Given the description of an element on the screen output the (x, y) to click on. 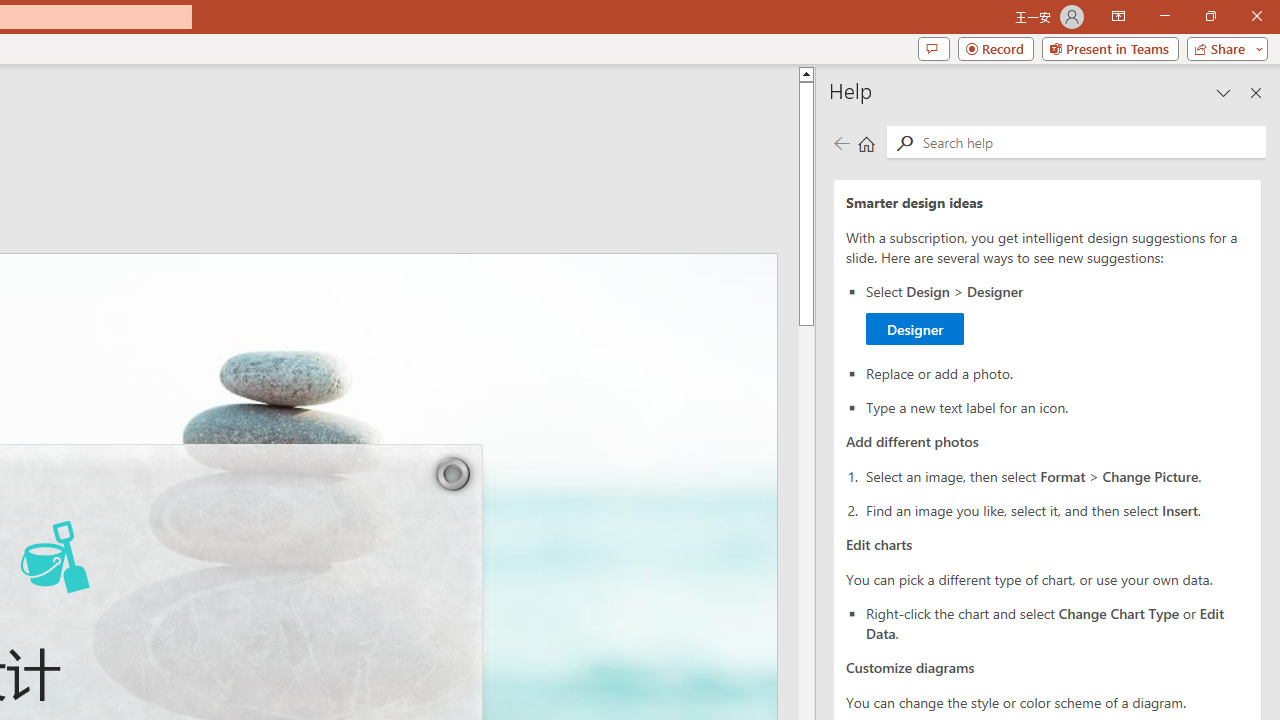
Replace or add a photo. (1057, 372)
